Given the description of an element on the screen output the (x, y) to click on. 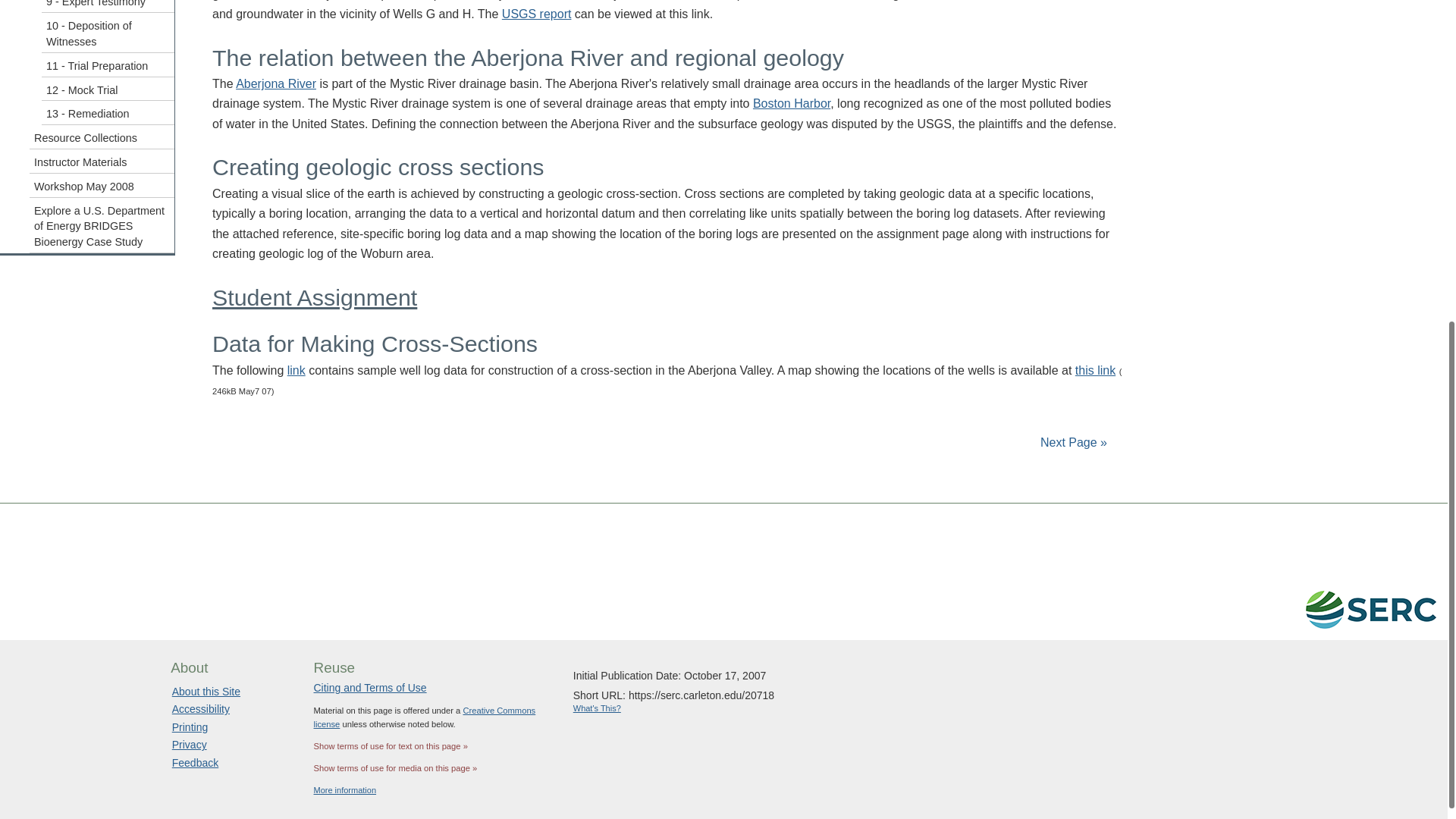
9 - Expert Testimony (108, 6)
12 - Mock Trial (108, 88)
link (295, 369)
USGS report (537, 13)
Boston Harbor (790, 103)
13 - Remediation (108, 112)
Student Assignment (314, 297)
this link (1095, 369)
10 - Deposition of Witnesses (108, 33)
Aberjona River (275, 83)
11 - Trial Preparation (108, 64)
